Given the description of an element on the screen output the (x, y) to click on. 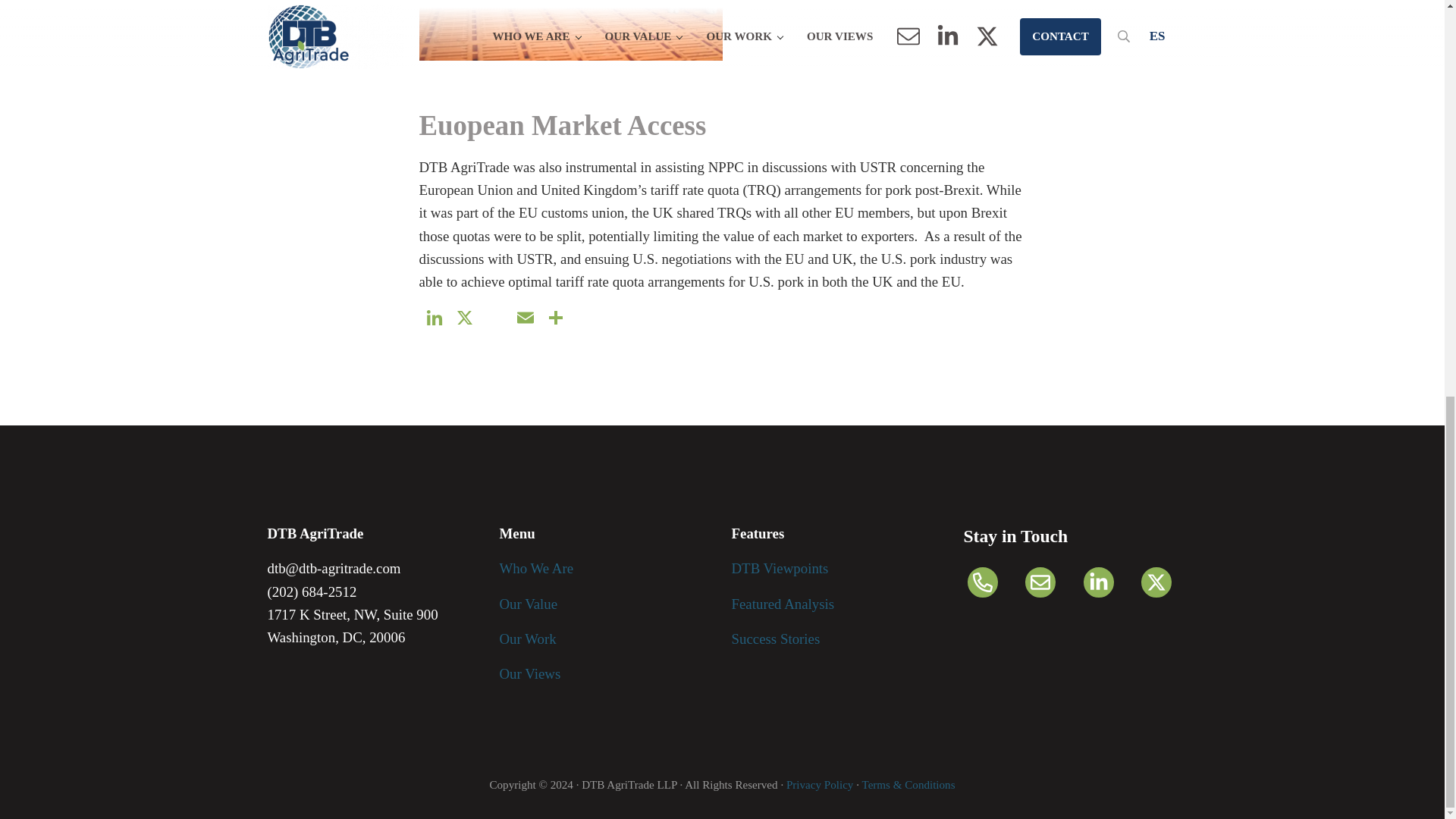
Email (524, 319)
LinkedIn (433, 319)
Facebook (494, 319)
X (463, 319)
